Given the description of an element on the screen output the (x, y) to click on. 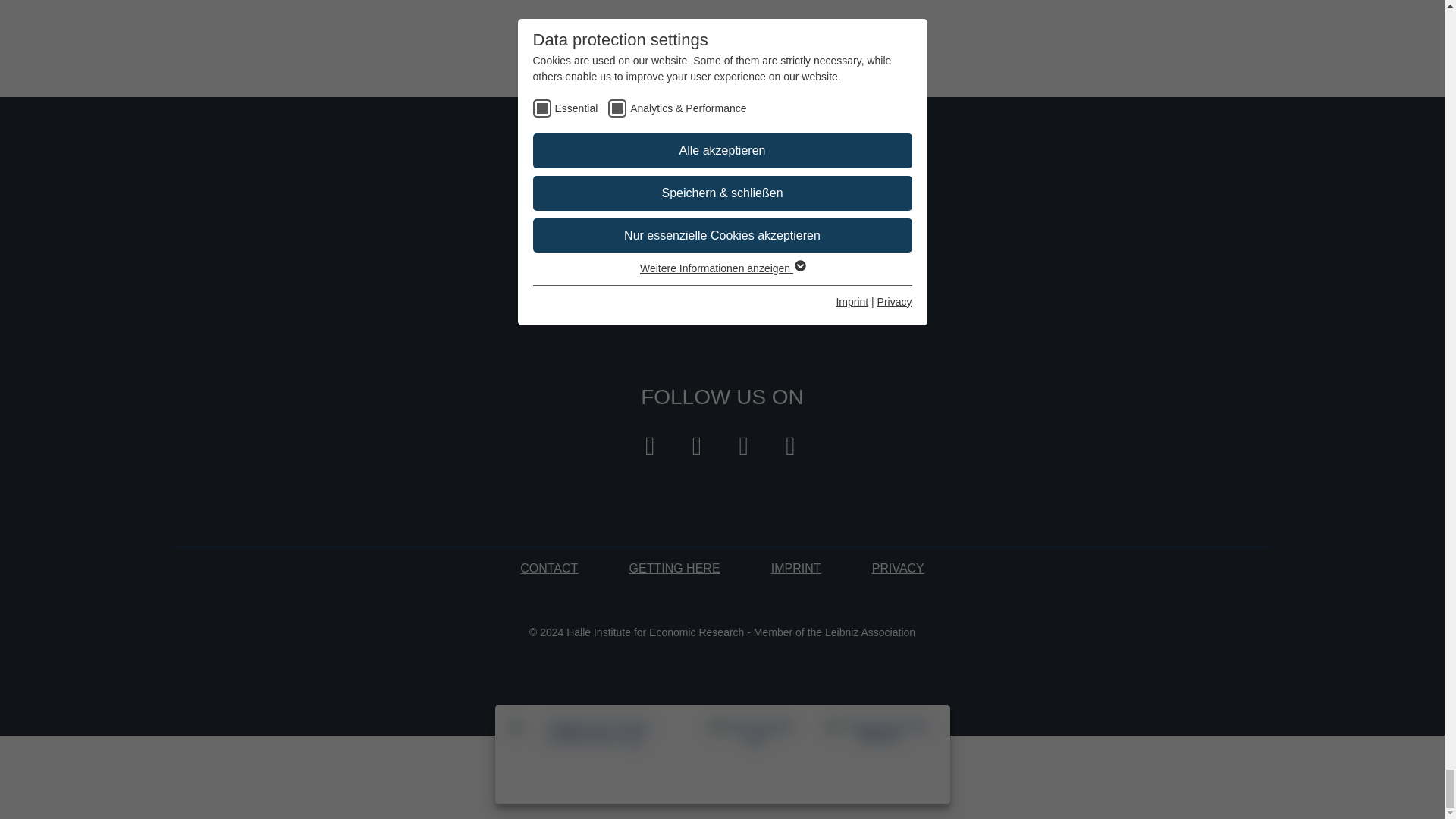
send (839, 251)
